Given the description of an element on the screen output the (x, y) to click on. 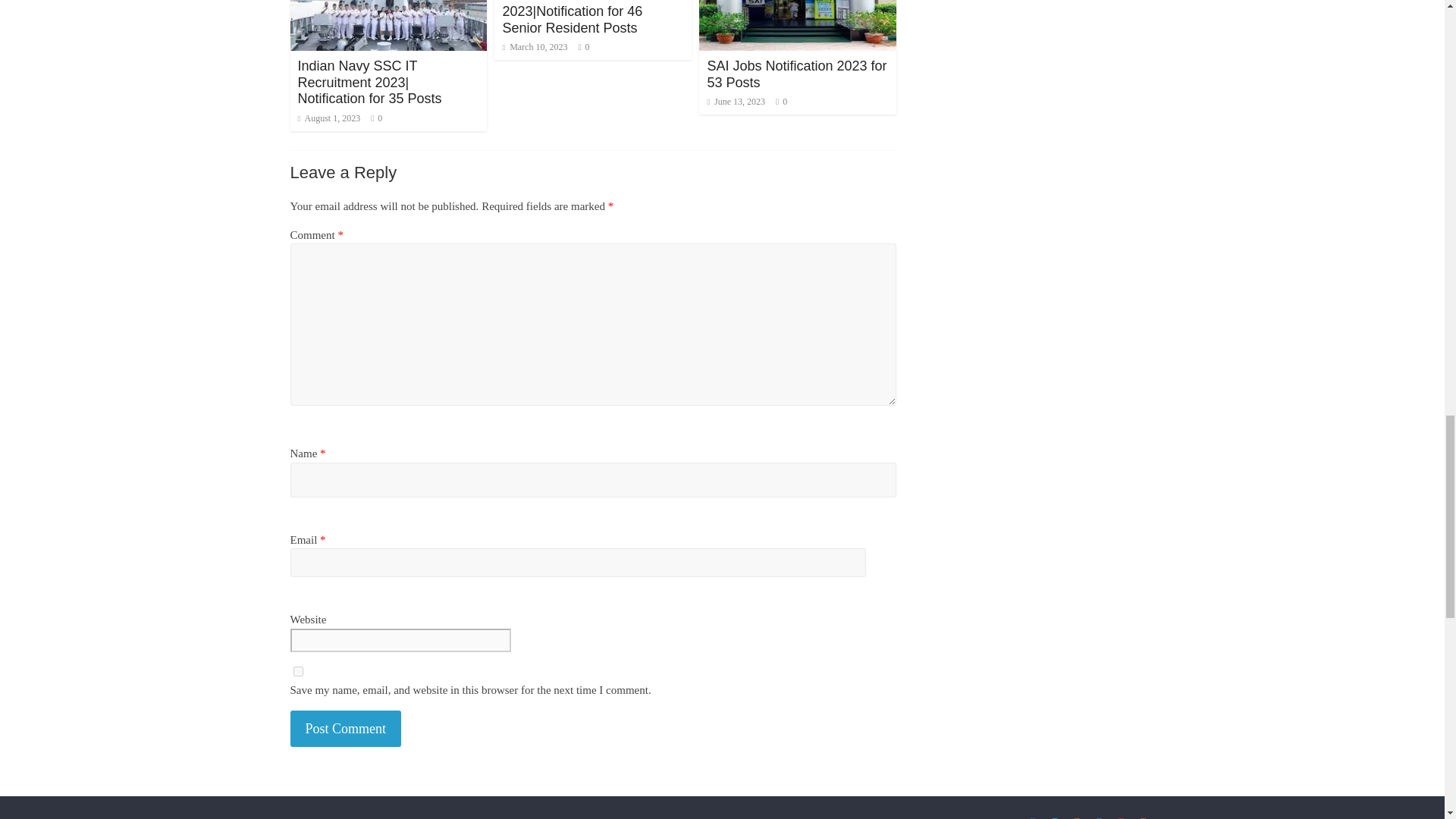
yes (297, 671)
March 10, 2023 (534, 46)
Post Comment (345, 728)
5:04 pm (328, 118)
August 1, 2023 (328, 118)
